Given the description of an element on the screen output the (x, y) to click on. 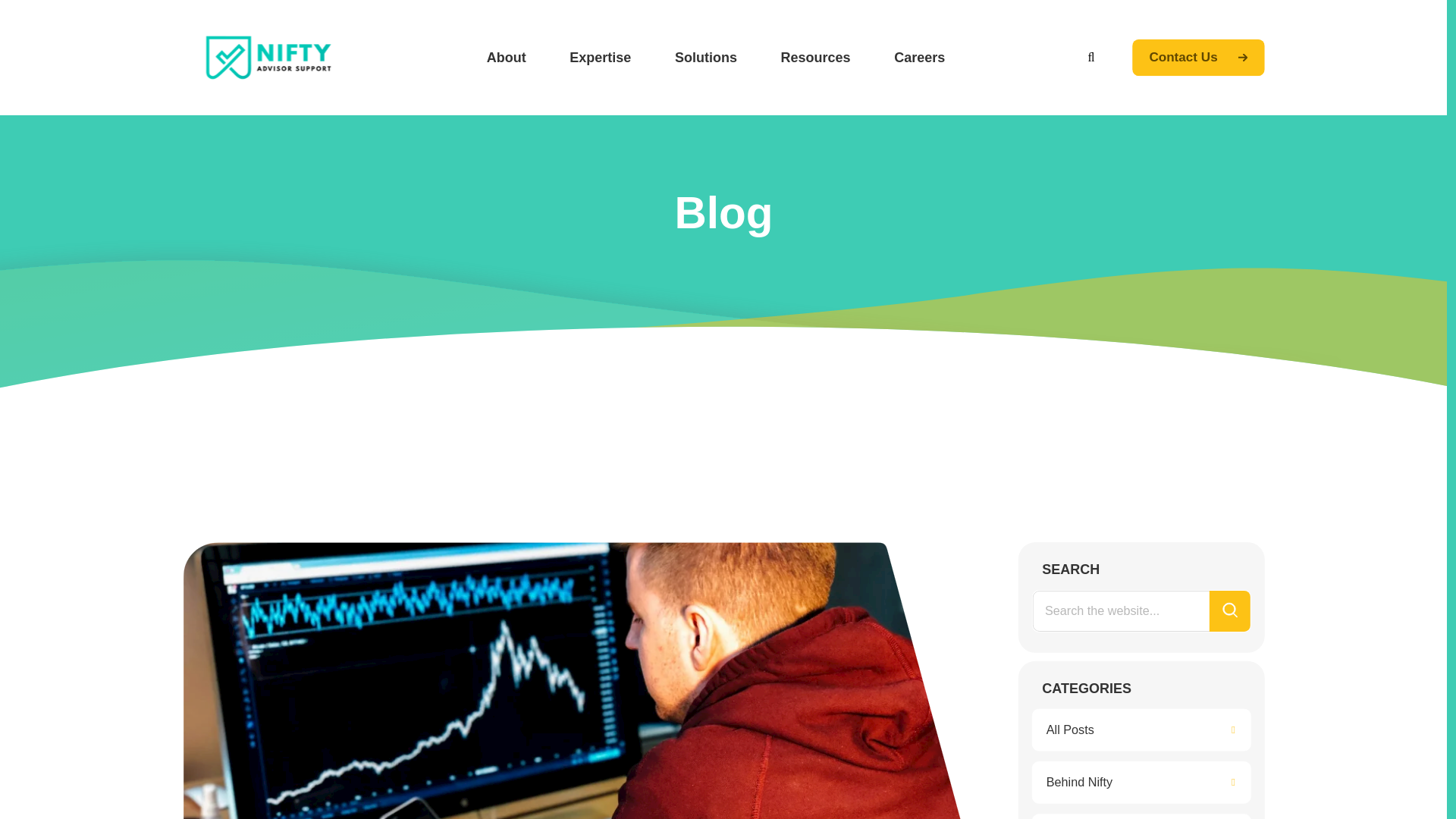
Solutions (708, 57)
Contact Us (1204, 59)
Expertise (603, 57)
About (507, 57)
Resources (818, 57)
Careers (921, 57)
